Given the description of an element on the screen output the (x, y) to click on. 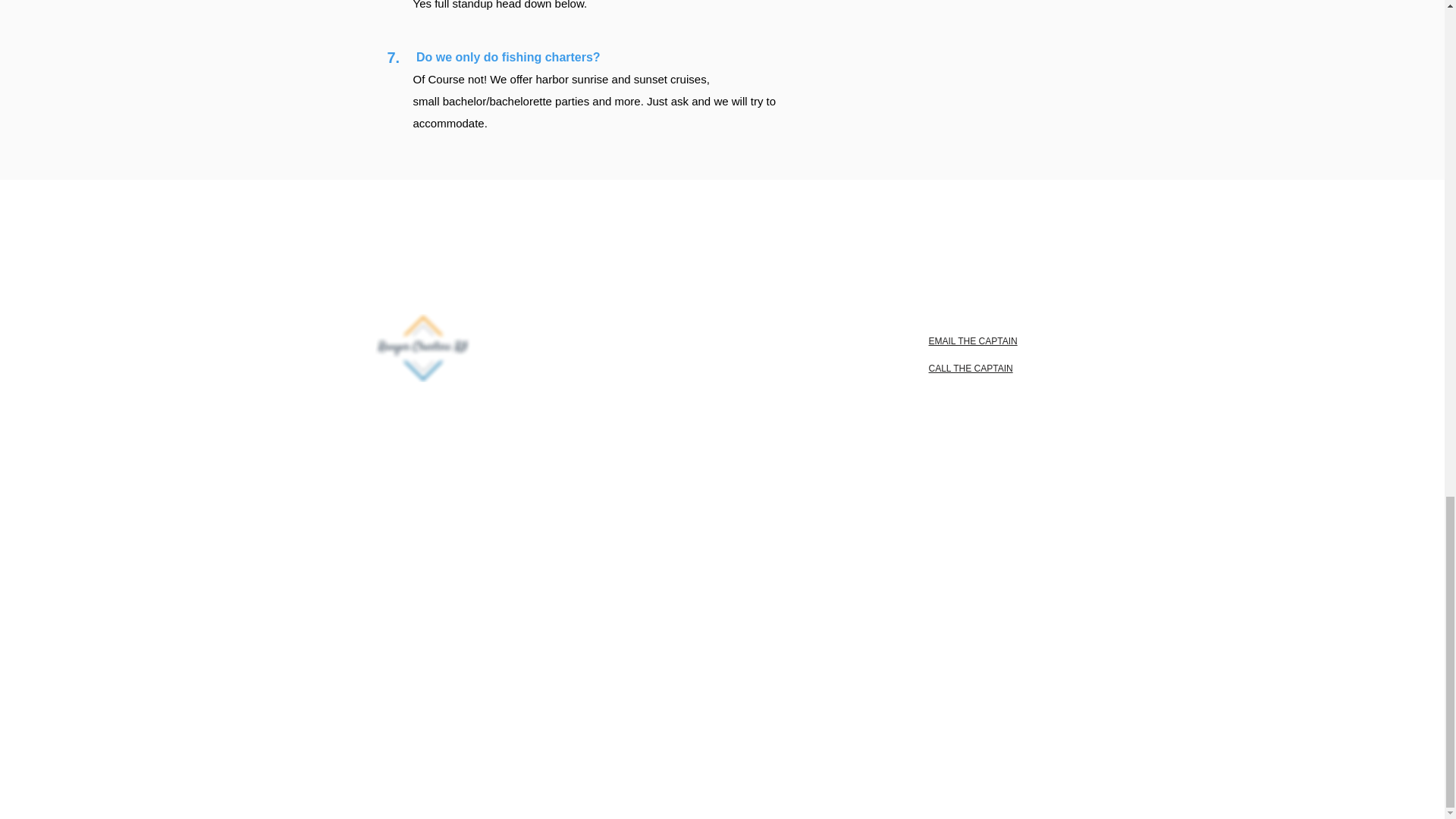
CALL THE CAPTAIN (969, 368)
EMAIL THE CAPTAIN (972, 340)
